Given the description of an element on the screen output the (x, y) to click on. 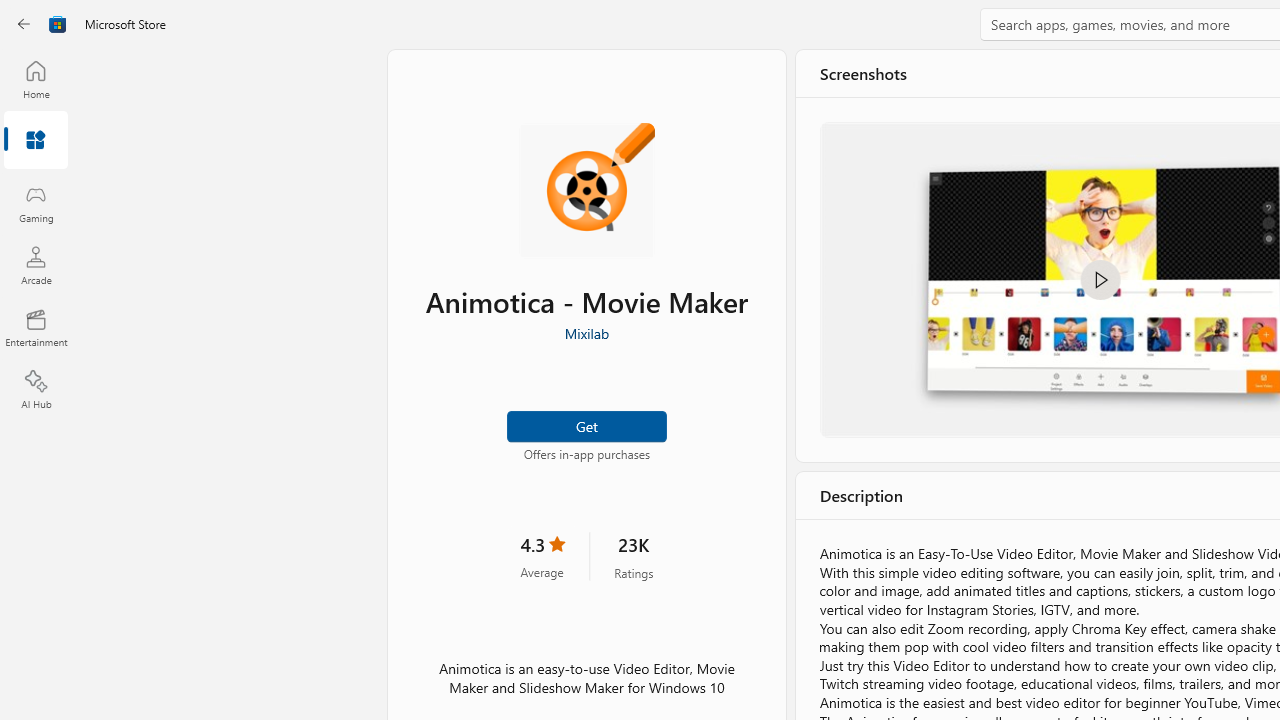
Back (24, 24)
Mixilab (586, 333)
4.3 stars. Click to skip to ratings and reviews (542, 556)
Get (586, 424)
